Given the description of an element on the screen output the (x, y) to click on. 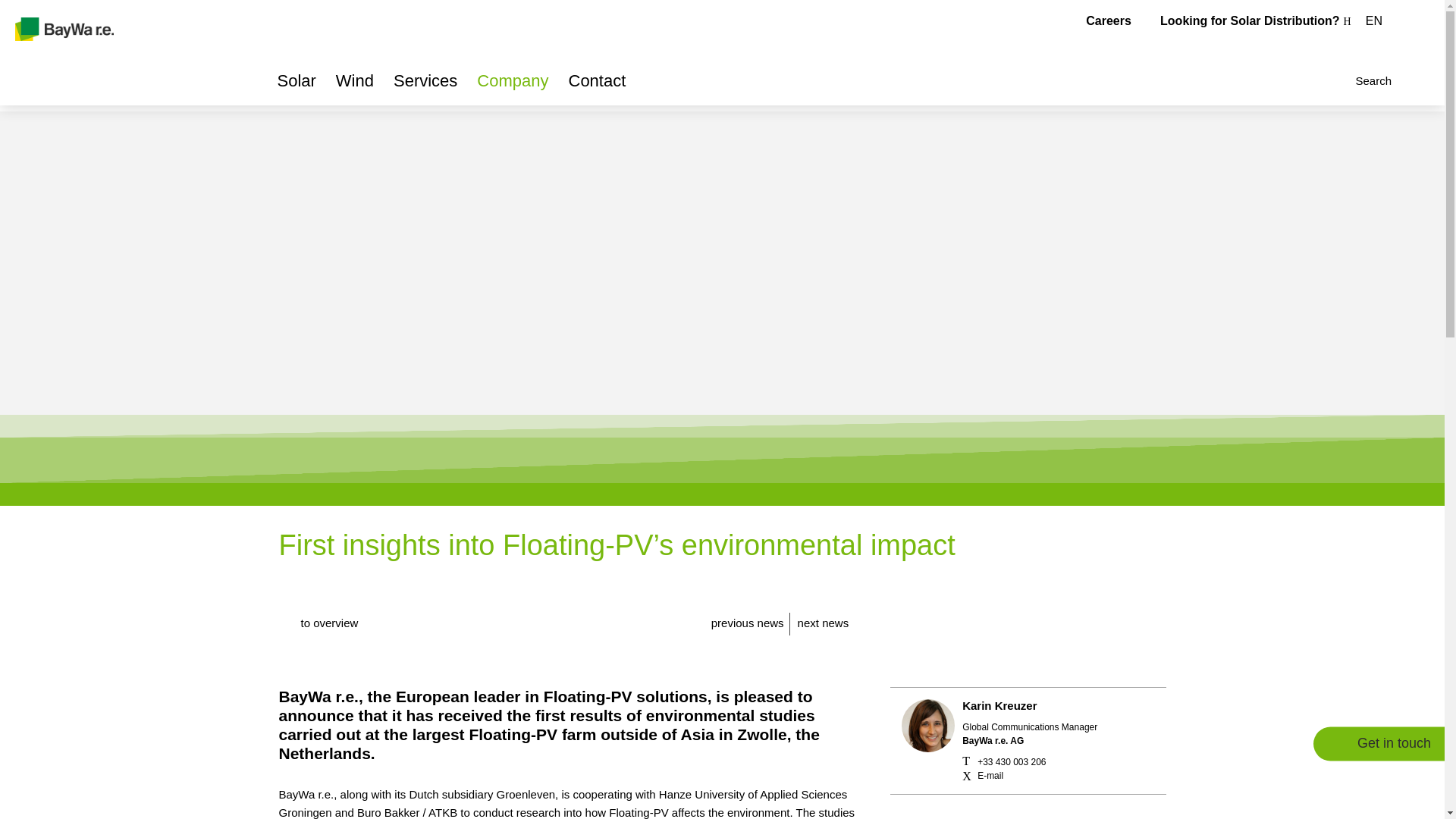
Services (425, 86)
Solar (296, 86)
Company (512, 86)
Looking for Solar Distribution? (1255, 20)
Wind (355, 86)
Careers (1108, 20)
Contact (597, 86)
